Given the description of an element on the screen output the (x, y) to click on. 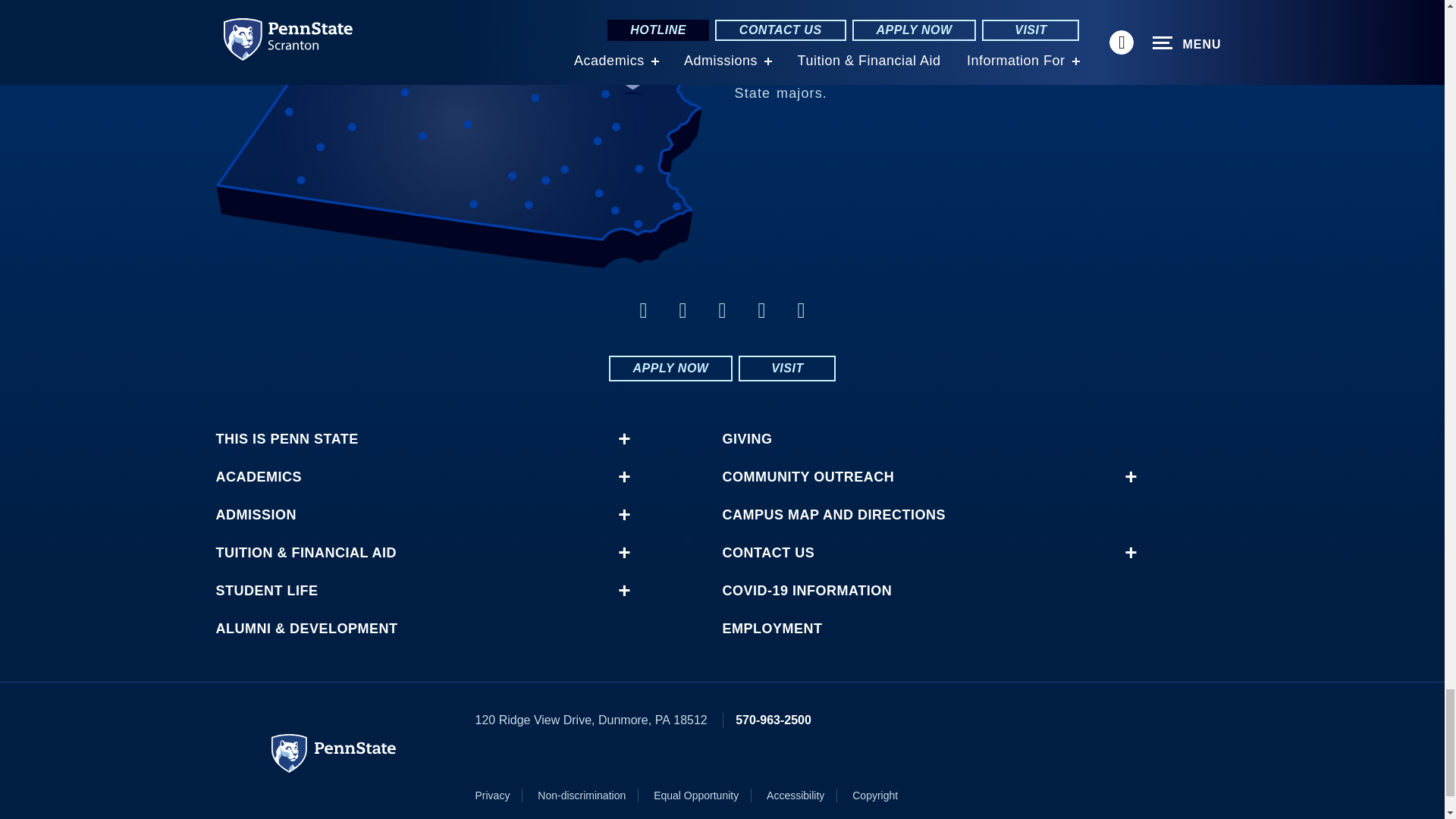
twitter (682, 310)
instagram (800, 310)
youtube (761, 310)
flickr (721, 310)
facebook (642, 310)
